Given the description of an element on the screen output the (x, y) to click on. 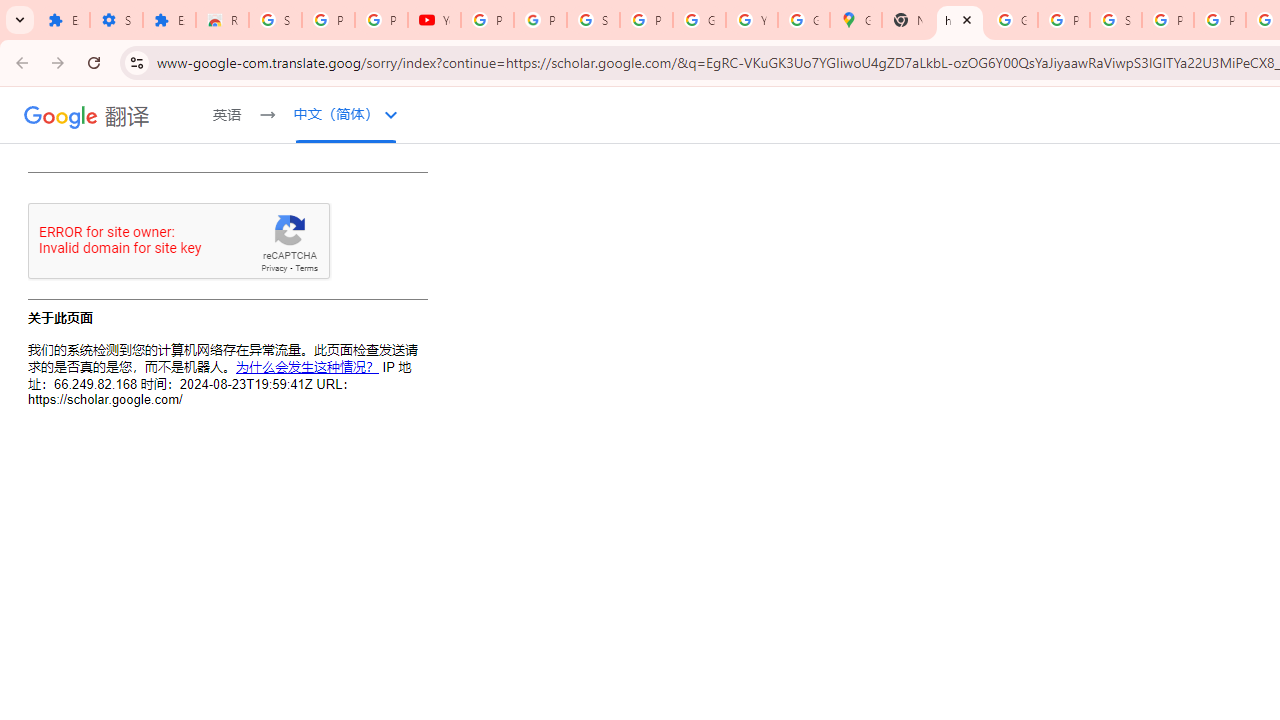
Extensions (63, 20)
New Tab (907, 20)
YouTube (751, 20)
